Given the description of an element on the screen output the (x, y) to click on. 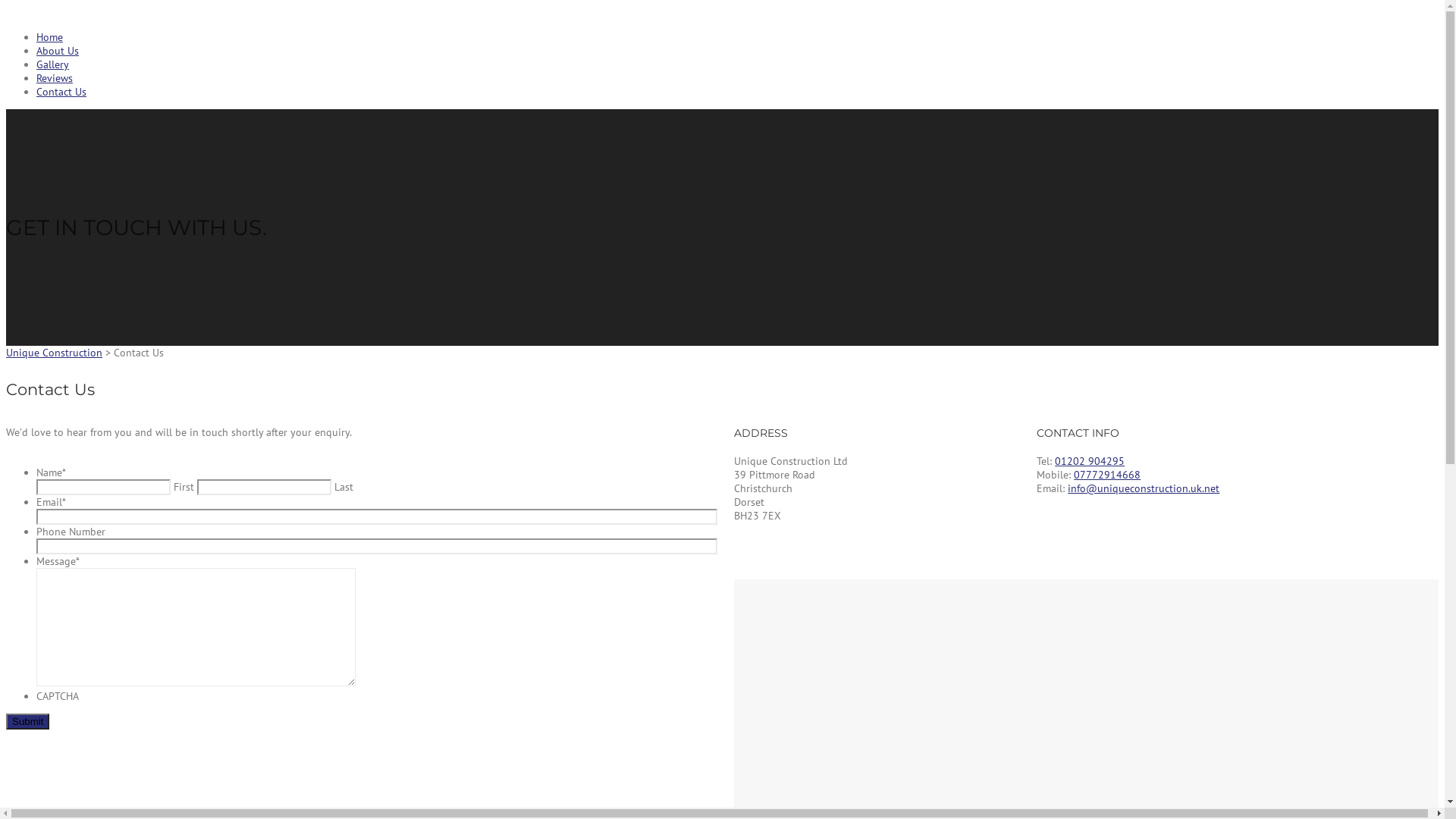
Submit Element type: text (27, 721)
Skip to content Element type: text (5, 5)
Reviews Element type: text (54, 77)
01202 904295 Element type: text (1089, 460)
Contact Us Element type: text (61, 91)
07772914668 Element type: text (1106, 474)
About Us Element type: text (57, 50)
Home Element type: text (49, 36)
Unique Construction Element type: text (54, 352)
info@uniqueconstruction.uk.net Element type: text (1143, 488)
Gallery Element type: text (52, 64)
